Given the description of an element on the screen output the (x, y) to click on. 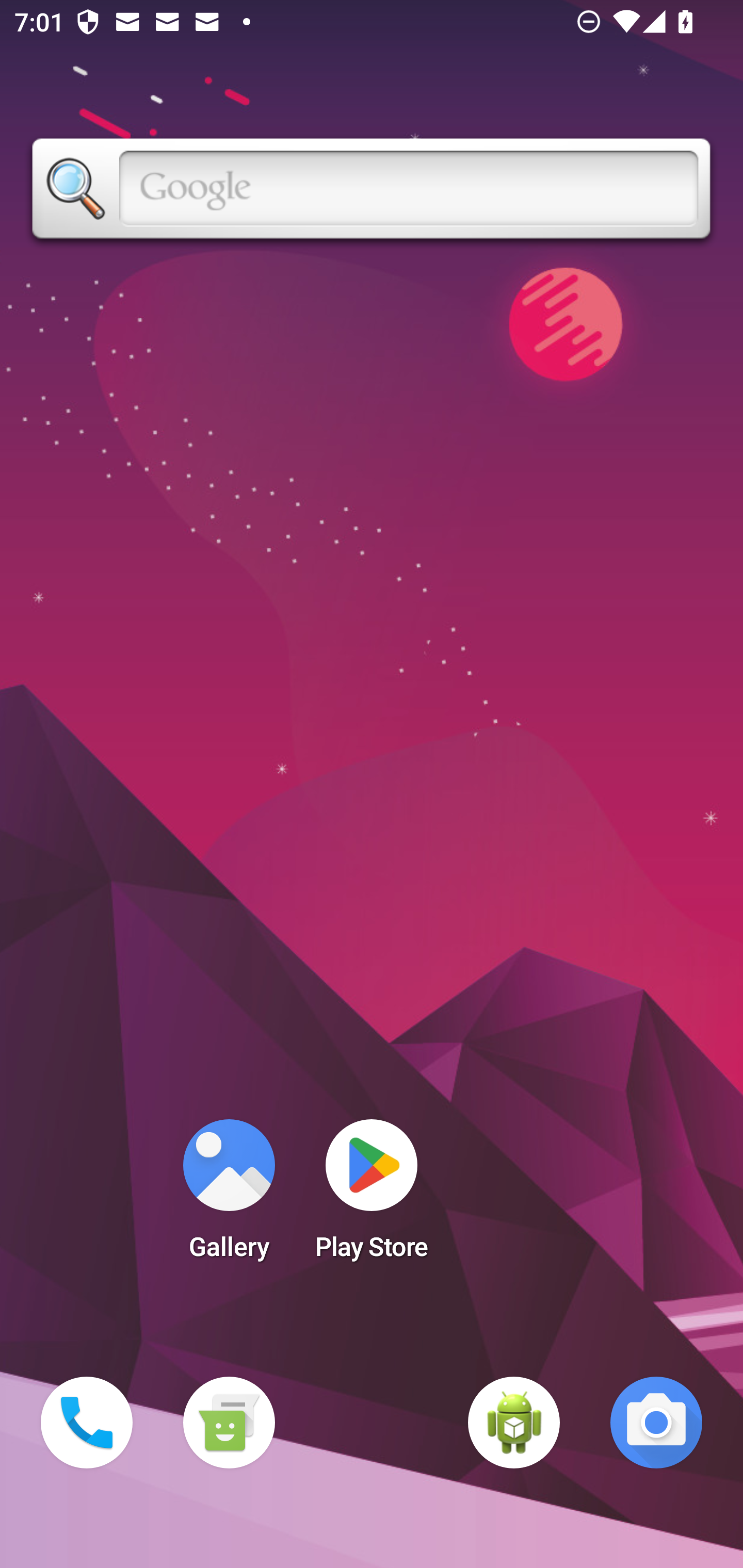
Gallery (228, 1195)
Play Store (371, 1195)
Phone (86, 1422)
Messaging (228, 1422)
WebView Browser Tester (513, 1422)
Camera (656, 1422)
